Given the description of an element on the screen output the (x, y) to click on. 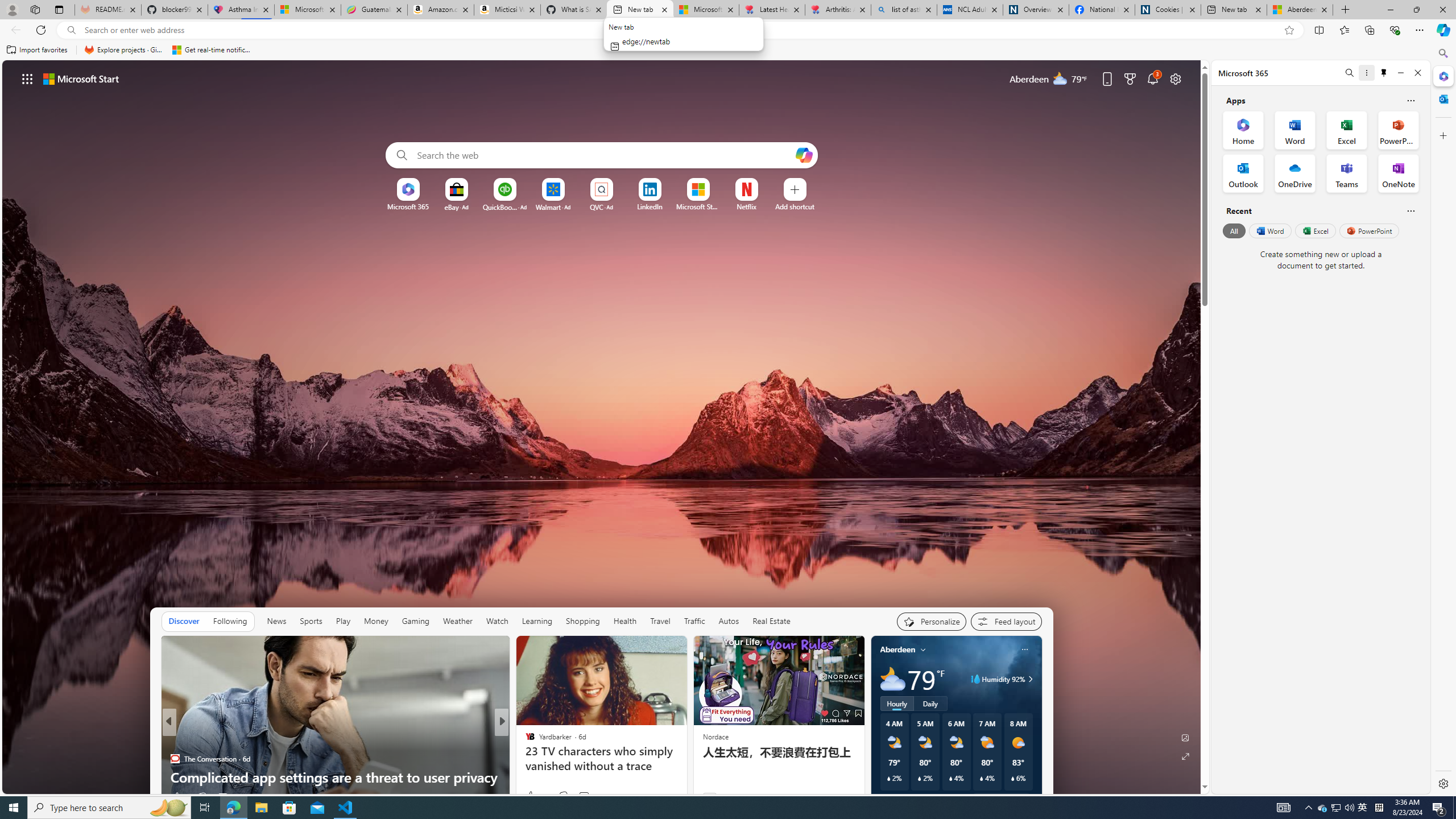
Outlook Office App (1243, 172)
Personalize your feed" (931, 621)
View comments 88 Comment (580, 797)
Aberdeen (897, 649)
320 Like (532, 796)
